Given the description of an element on the screen output the (x, y) to click on. 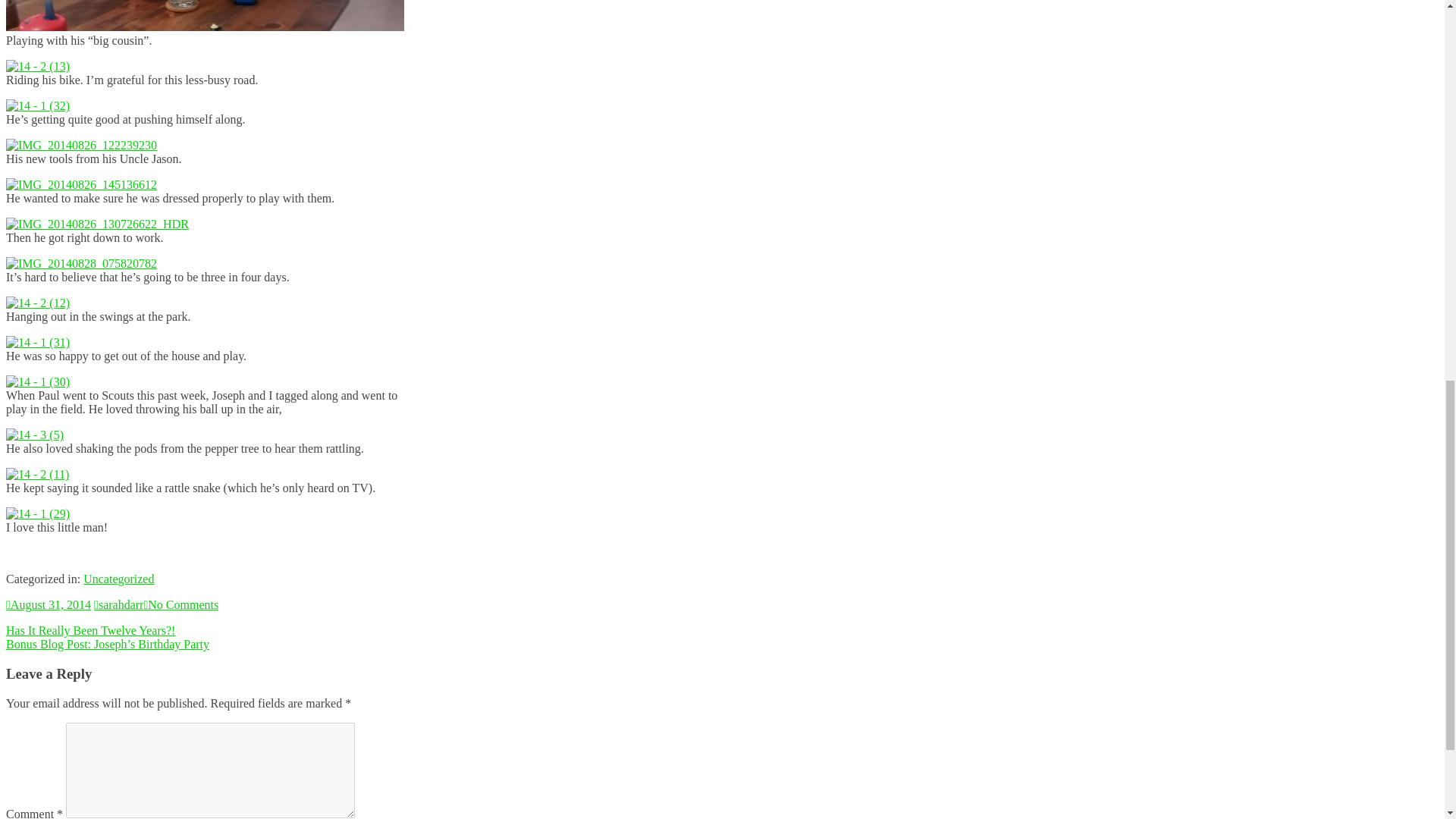
No Comments (180, 604)
August 31, 2014 (47, 604)
Has It Really Been Twelve Years?! (89, 630)
Uncategorized (118, 578)
sarahdarr (118, 604)
